Given the description of an element on the screen output the (x, y) to click on. 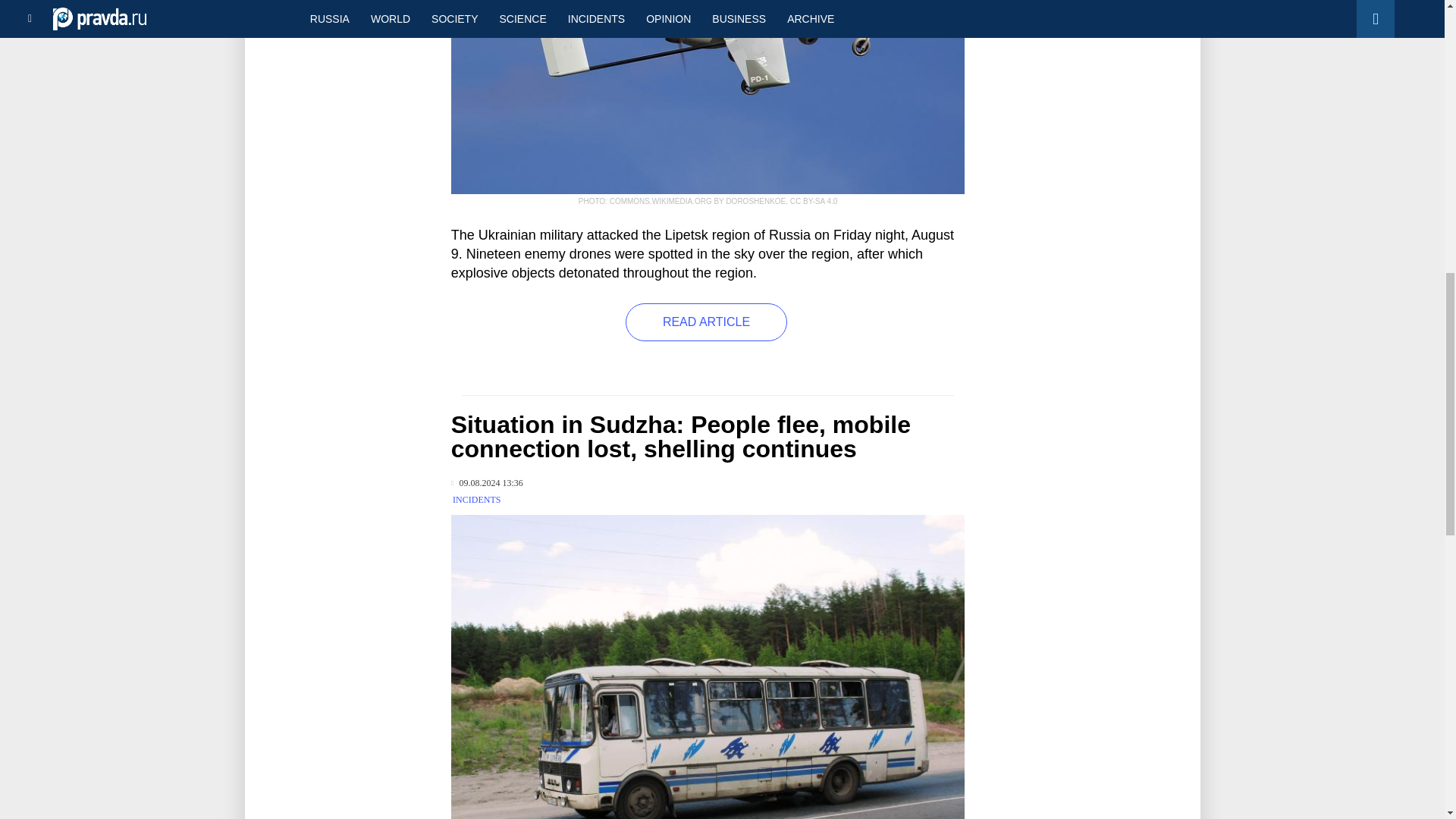
Back to top (1418, 79)
Published (486, 482)
